Given the description of an element on the screen output the (x, y) to click on. 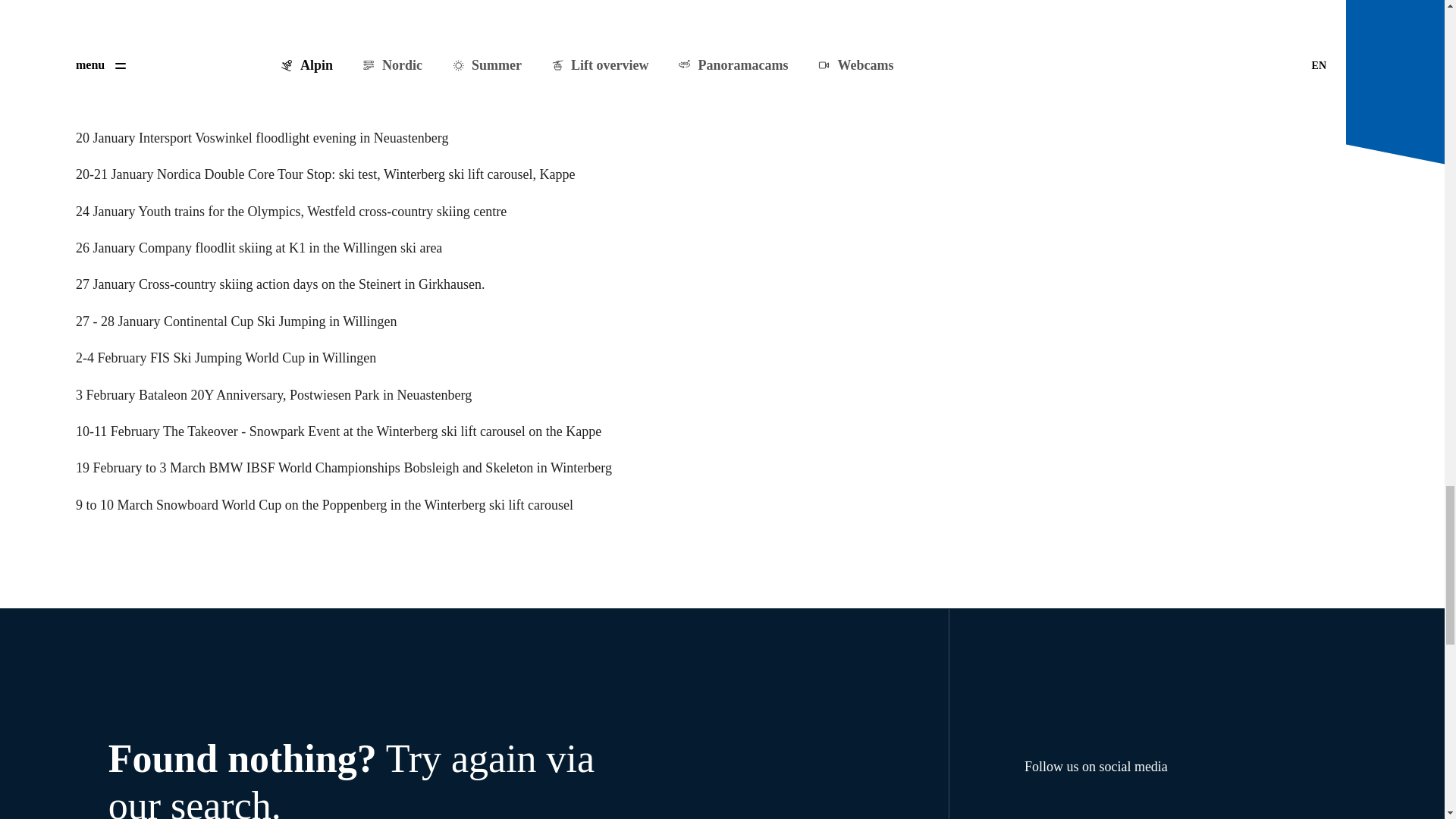
Follow us on Facebook (1038, 810)
Follow us on Twitter (1106, 810)
Follow us on Instagram (1071, 810)
